Given the description of an element on the screen output the (x, y) to click on. 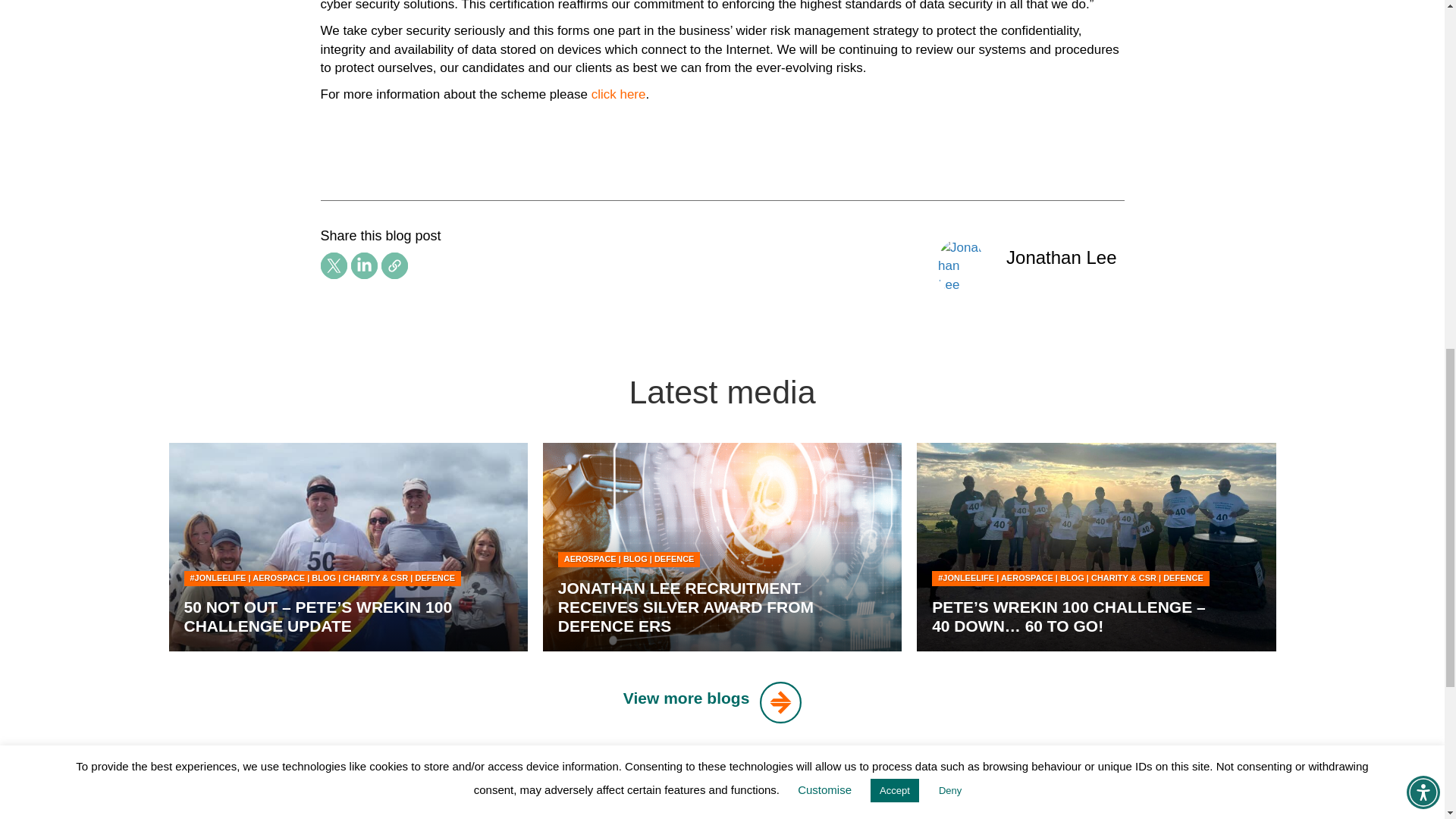
Email (393, 265)
LinkedIn (363, 265)
